Given the description of an element on the screen output the (x, y) to click on. 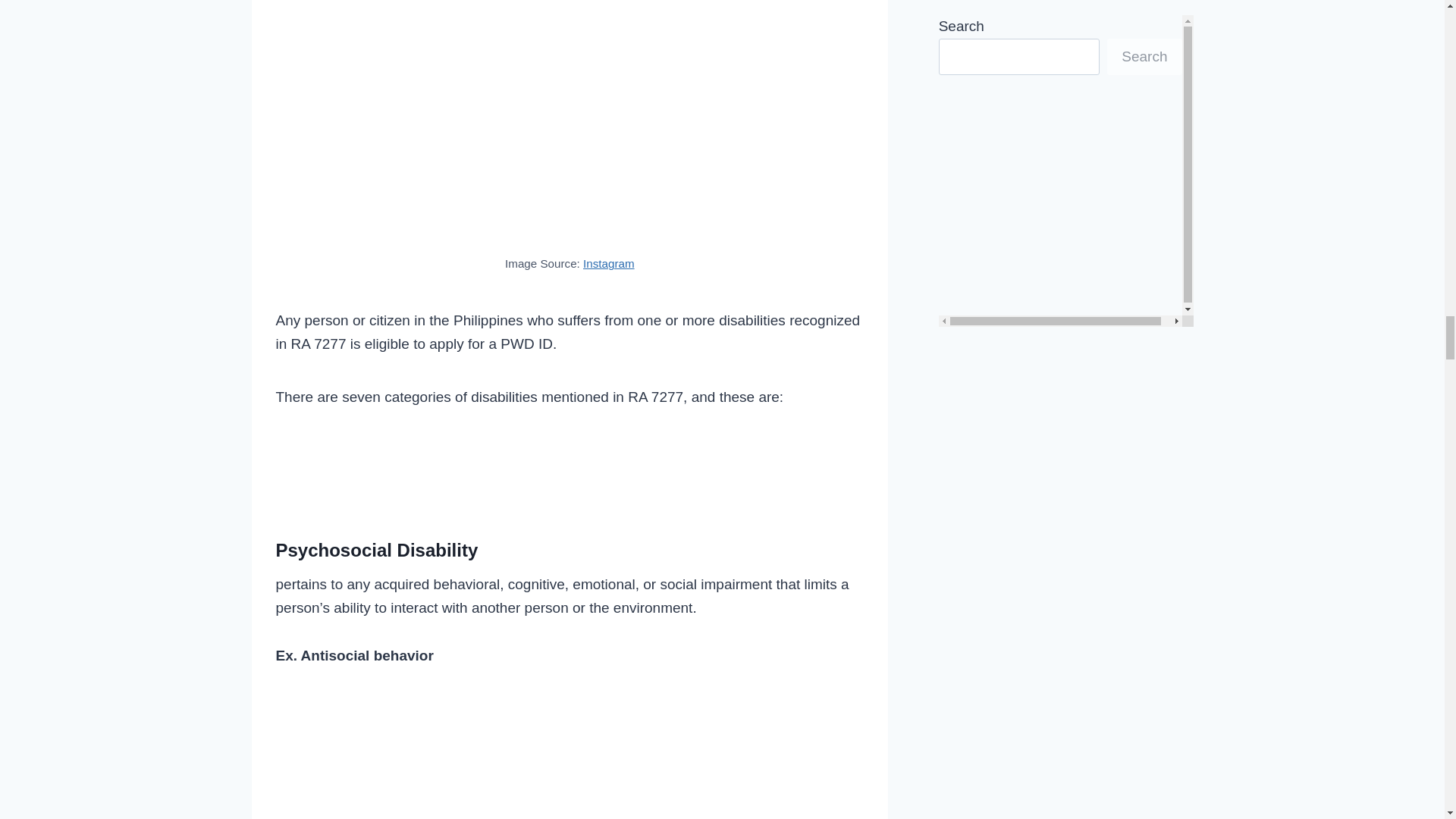
Instagram (608, 263)
